Given the description of an element on the screen output the (x, y) to click on. 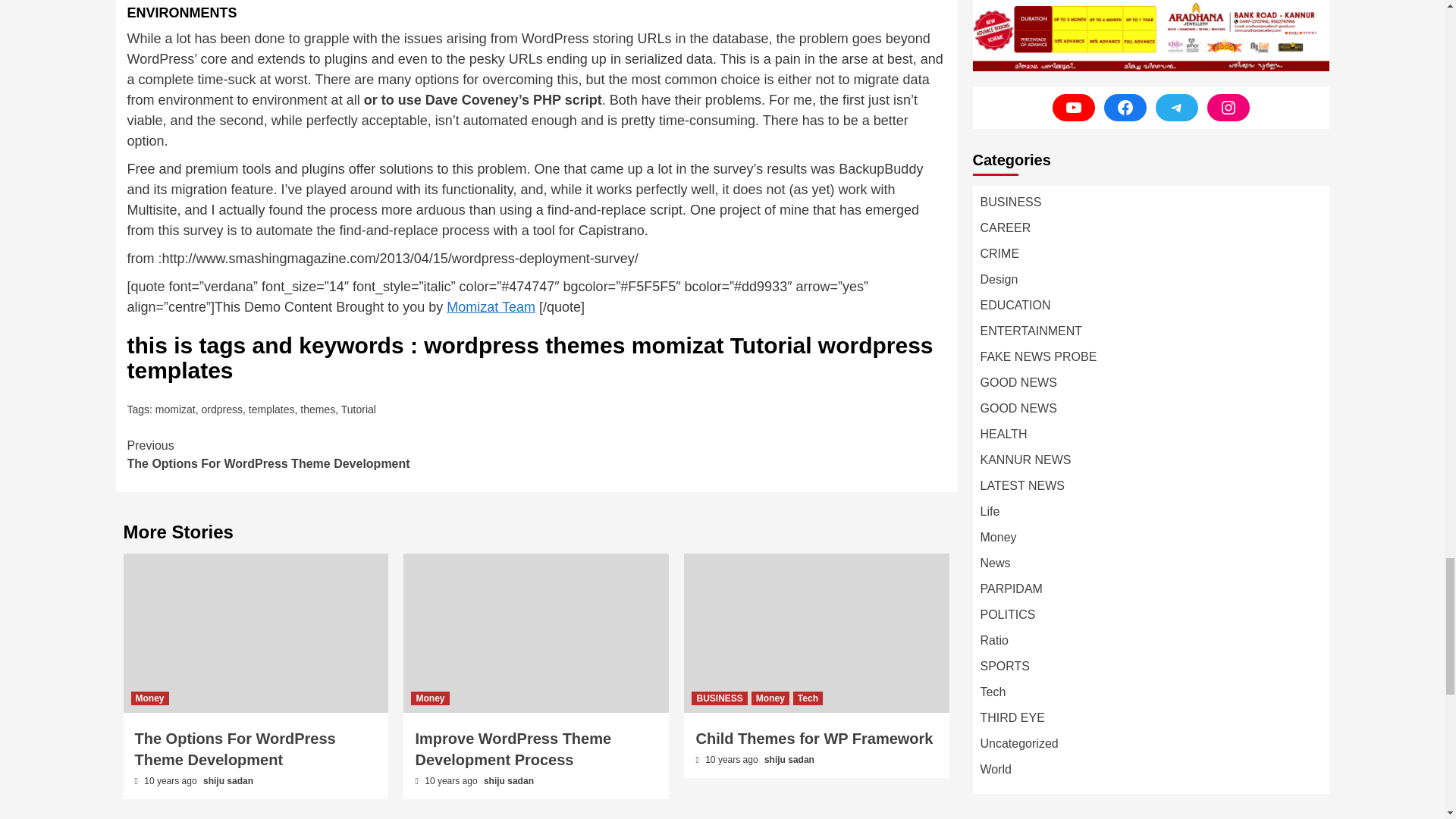
Momizat Team (332, 454)
shiju sadan (490, 306)
Tutorial (508, 780)
momizat (357, 409)
Money (175, 409)
Money (770, 698)
shiju sadan (429, 698)
BUSINESS (788, 759)
templates (718, 698)
